Given the description of an element on the screen output the (x, y) to click on. 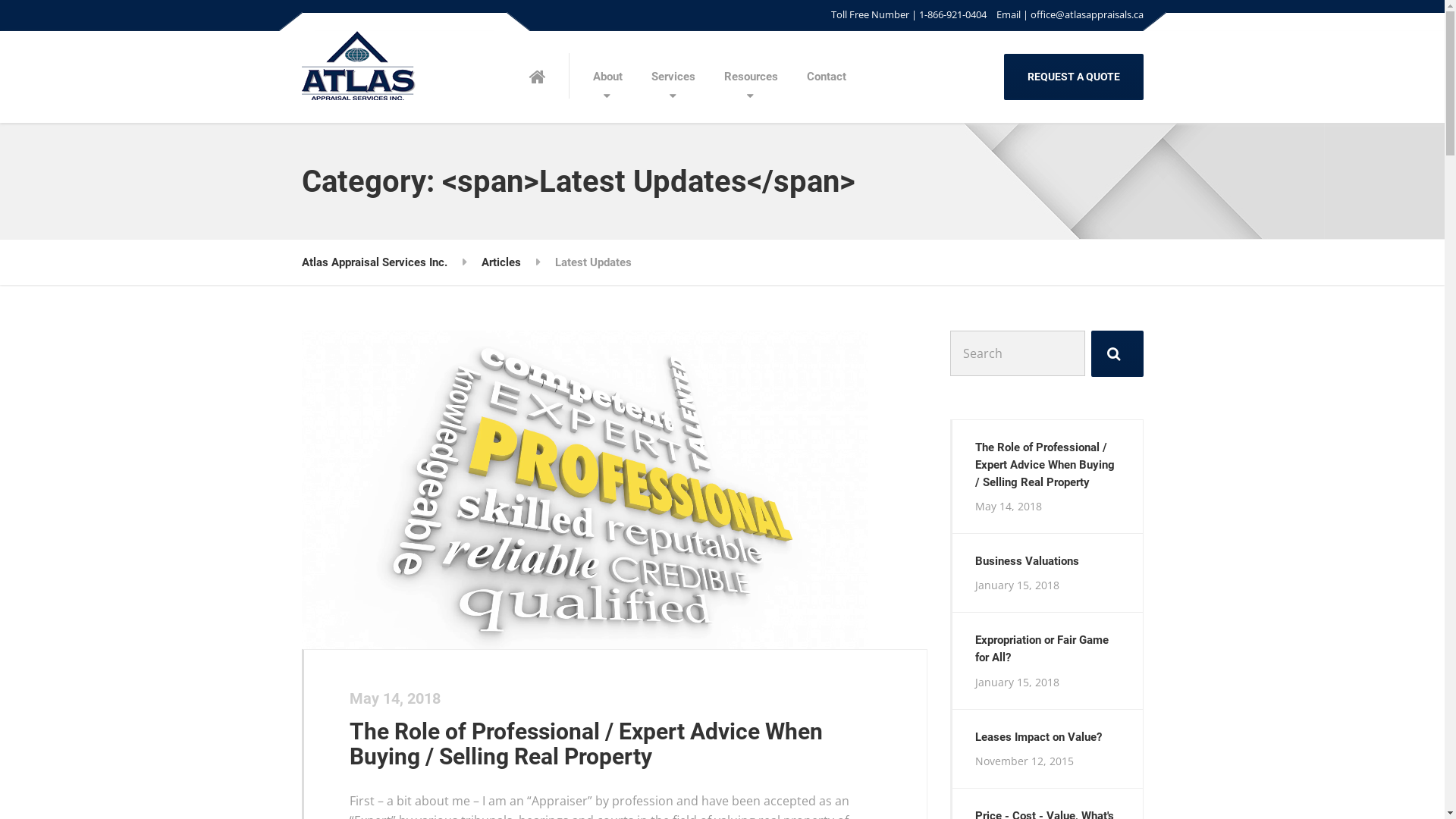
Articles Element type: text (500, 262)
Contact Element type: text (825, 76)
Resources Element type: text (750, 76)
About Element type: text (606, 76)
Toll Free Number | 1-866-921-0404 Element type: text (907, 15)
REQUEST A QUOTE Element type: text (1073, 76)
Atlas Appraisal Services Inc. Element type: text (374, 262)
Expropriation or Fair Game for All?
January 15, 2018 Element type: text (1045, 660)
Business Valuations
January 15, 2018 Element type: text (1045, 572)
Email | office@atlasappraisals.ca Element type: text (1066, 15)
Leases Impact on Value?
November 12, 2015 Element type: text (1045, 748)
Services Element type: text (673, 76)
